Given the description of an element on the screen output the (x, y) to click on. 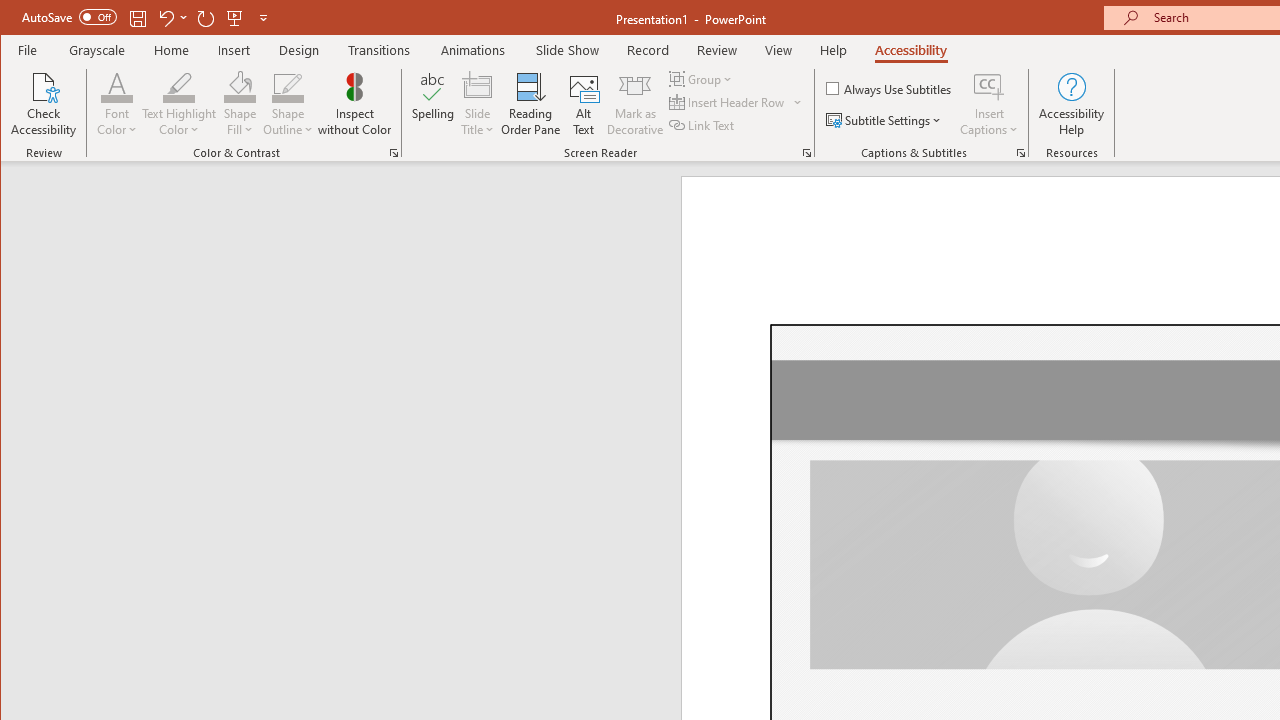
Always Use Subtitles (890, 88)
Spelling... (432, 104)
Insert Header Row (735, 101)
Captions & Subtitles (1020, 152)
Shape Outline Blue, Accent 1 (288, 86)
